Given the description of an element on the screen output the (x, y) to click on. 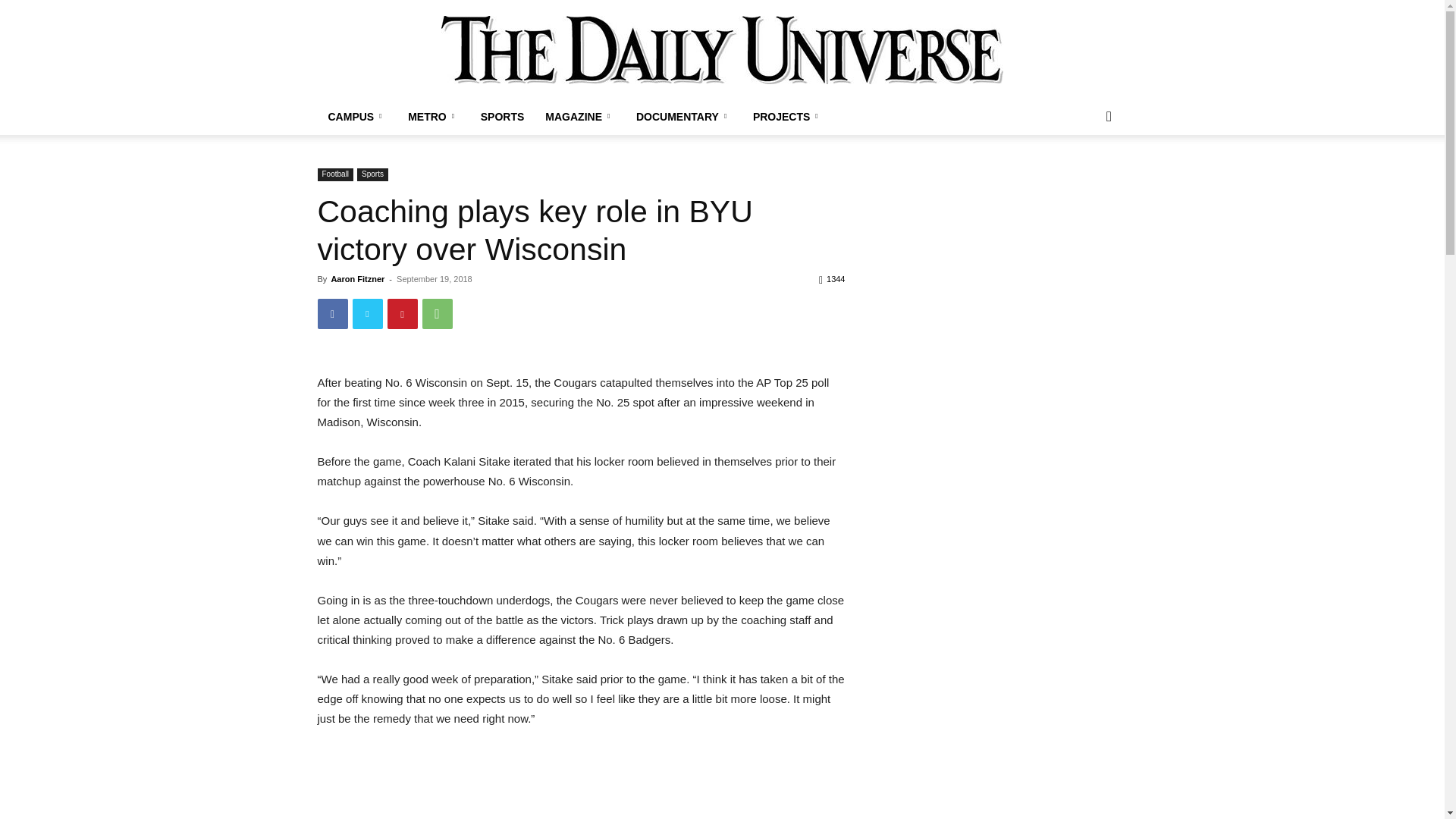
Facebook (332, 313)
Pinterest (401, 313)
WhatsApp (436, 313)
Twitter (366, 313)
YouTube player (580, 783)
